Given the description of an element on the screen output the (x, y) to click on. 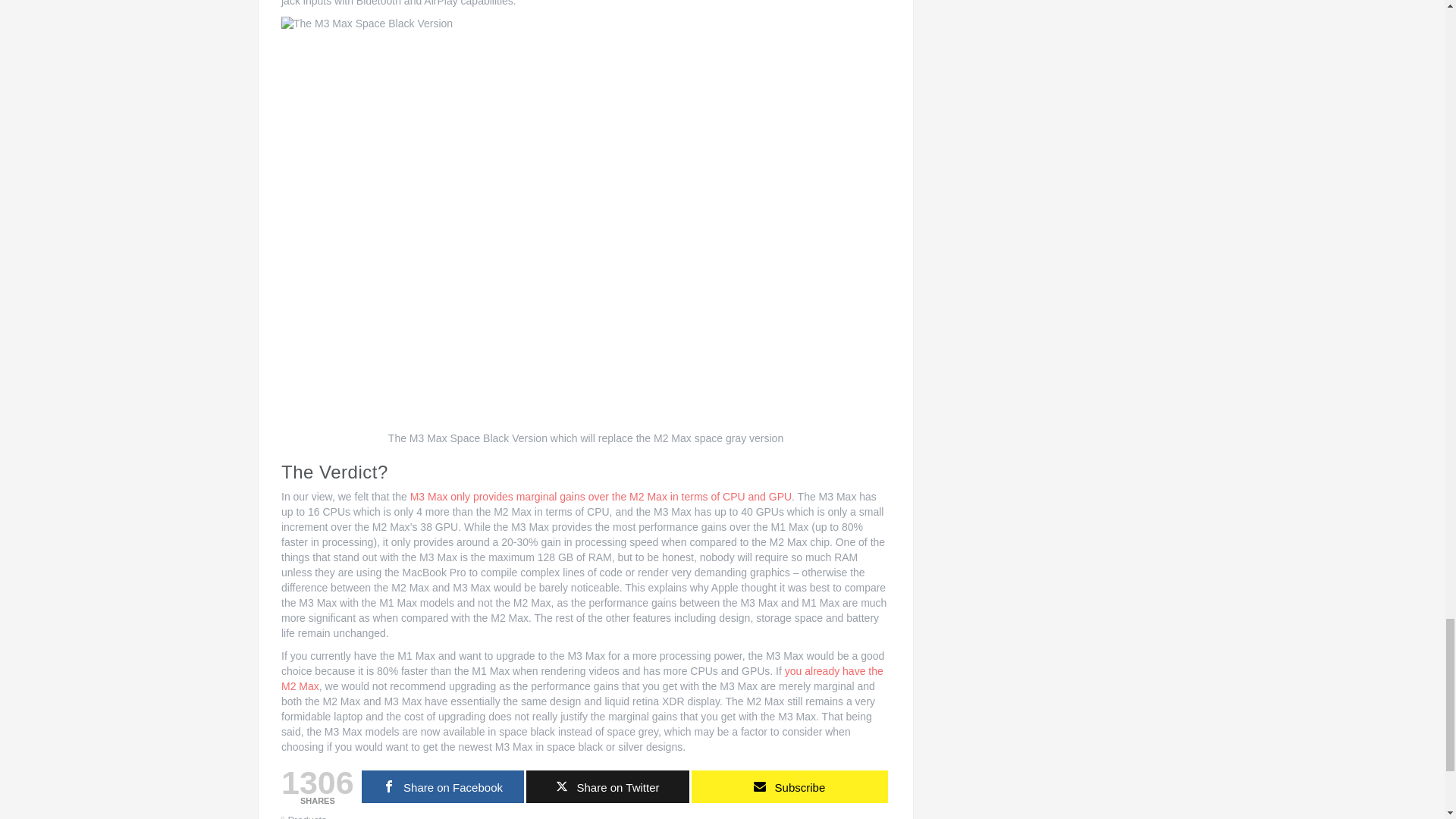
Share on Facebook (442, 786)
you already have the M2 Max (582, 678)
Subscribe (789, 786)
Share on Twitter (606, 786)
